Given the description of an element on the screen output the (x, y) to click on. 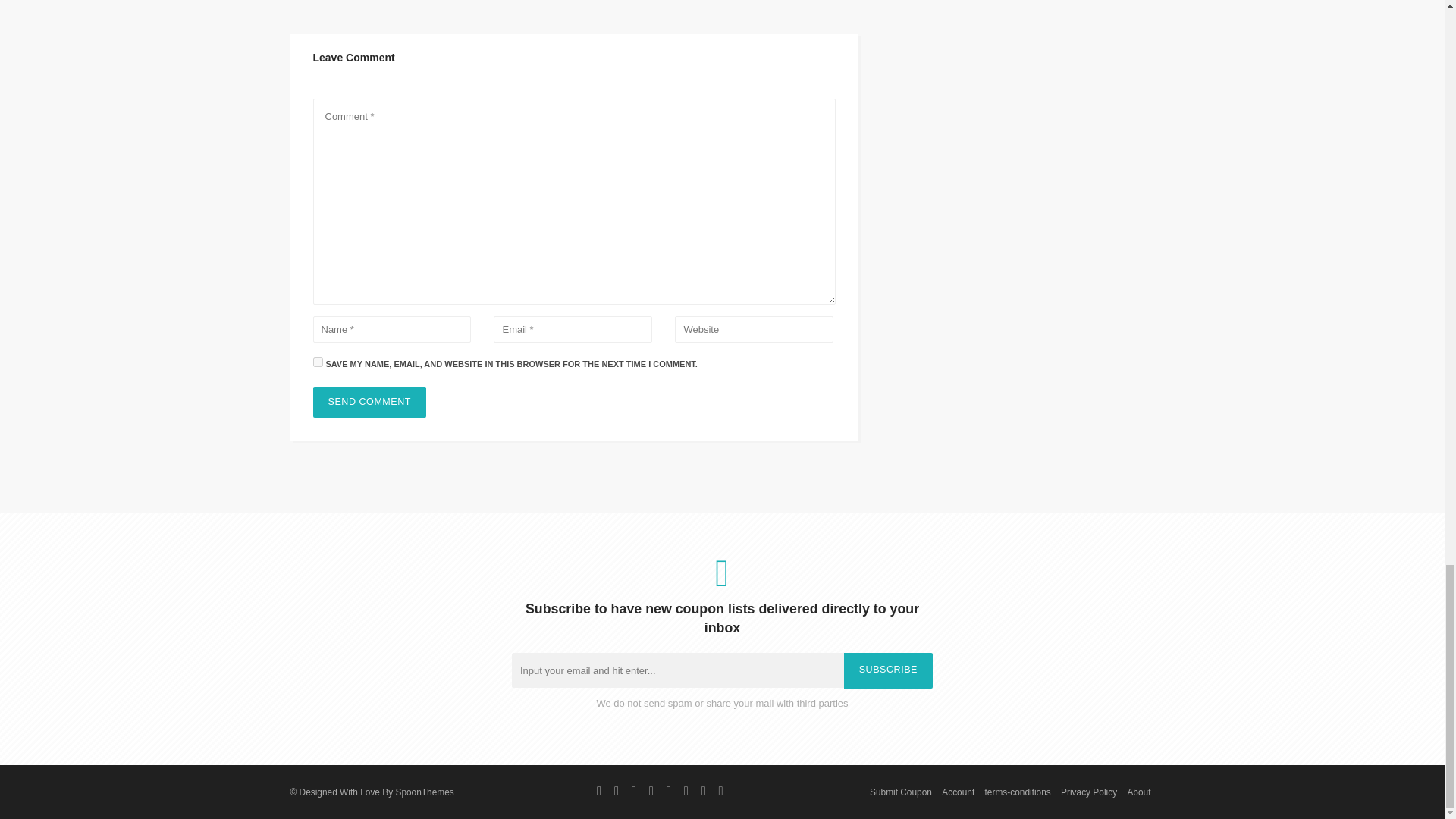
terms-conditions (1018, 792)
Send Comment (369, 401)
SUBSCRIBE (888, 670)
yes (317, 361)
Send Comment (369, 401)
Account (958, 792)
Submit Coupon (900, 792)
